Given the description of an element on the screen output the (x, y) to click on. 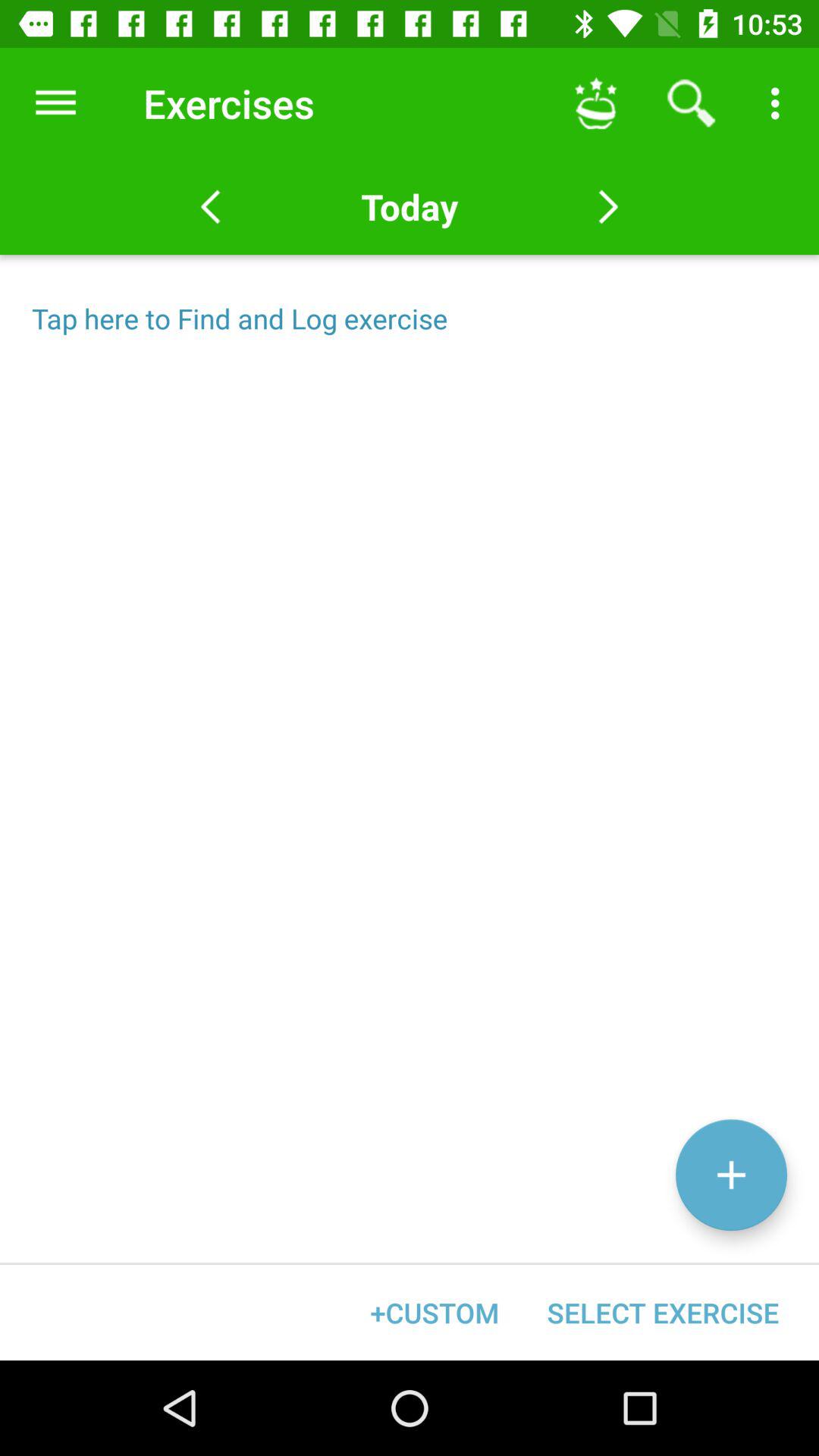
select the +custom item (434, 1312)
